Given the description of an element on the screen output the (x, y) to click on. 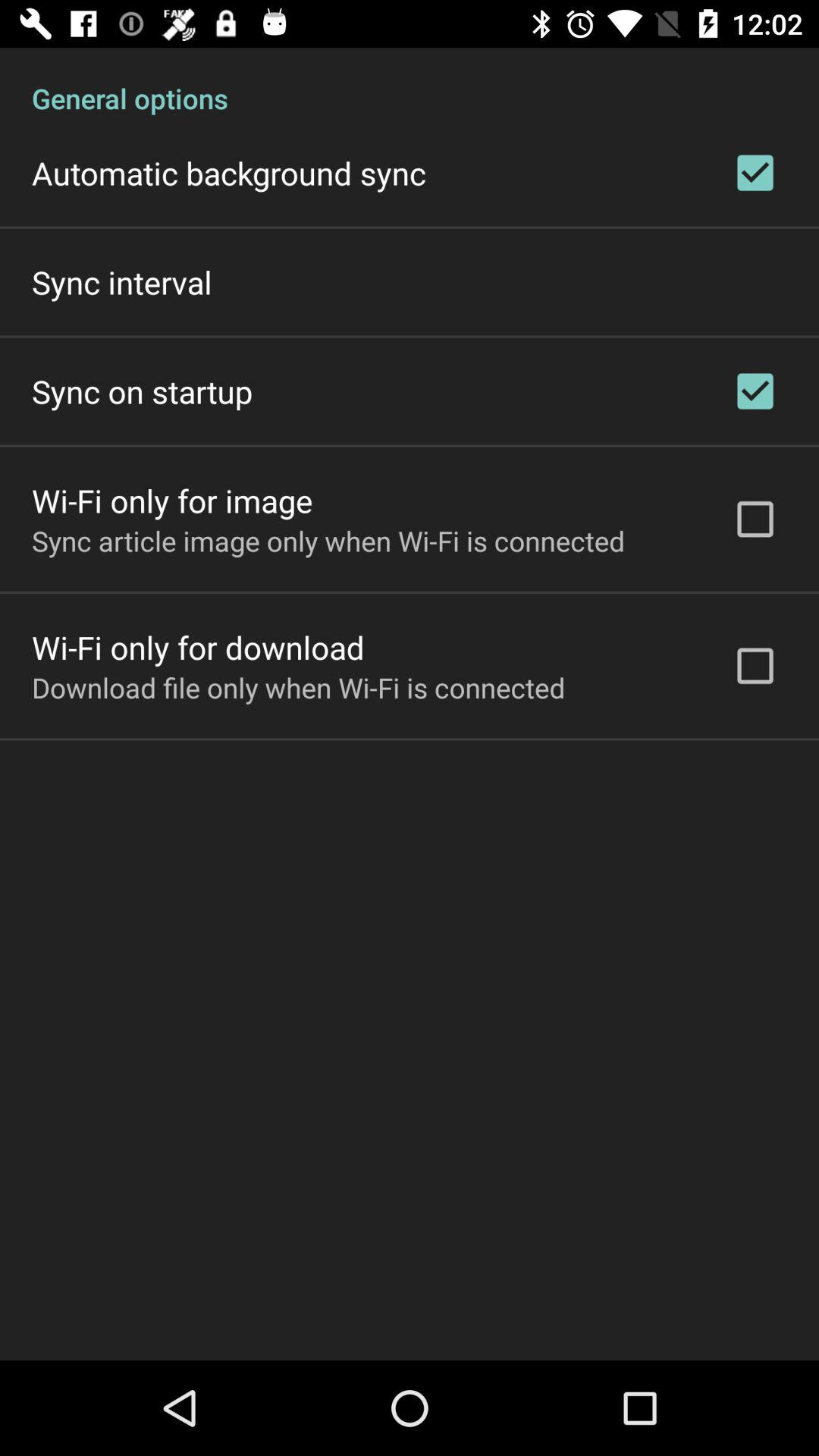
turn on the icon below the sync interval (141, 390)
